Given the description of an element on the screen output the (x, y) to click on. 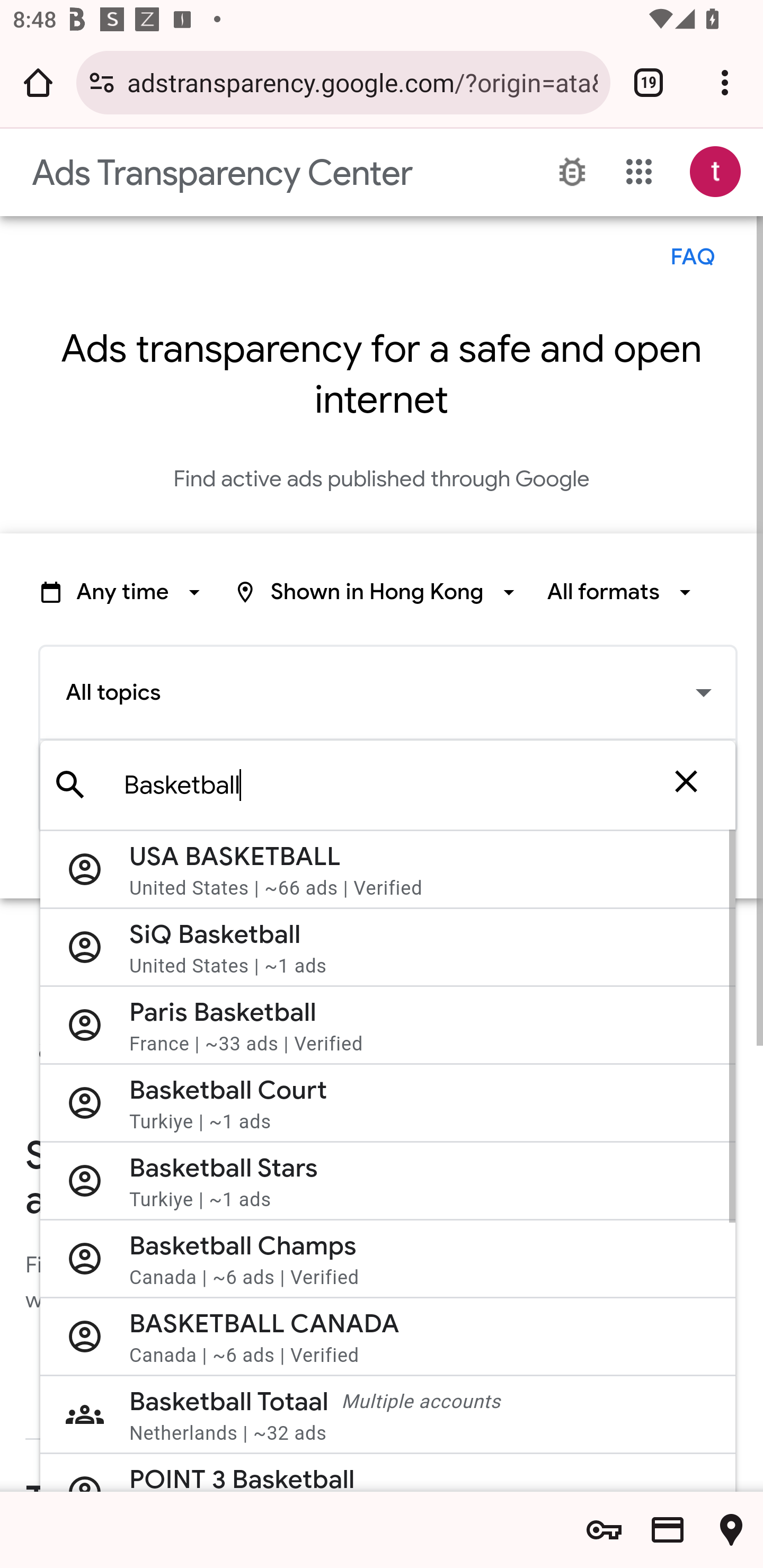
Open the home page (38, 82)
Connection is secure (101, 82)
Switch or close tabs (648, 82)
Customize and control Google Chrome (724, 82)
adstransparency.google.com/?origin=ata&region=HK (362, 82)
Send Bug Report (572, 171)
Google apps (638, 171)
FAQ (691, 256)
Date range filter button (123, 591)
Region selection filter button (376, 591)
Ad format filter button: selected All formats (622, 591)
All topics (387, 692)
Clear (685, 784)
Basketball (394, 784)
Show saved passwords and password options (603, 1530)
Show saved payment methods (667, 1530)
Show saved addresses (731, 1530)
